Given the description of an element on the screen output the (x, y) to click on. 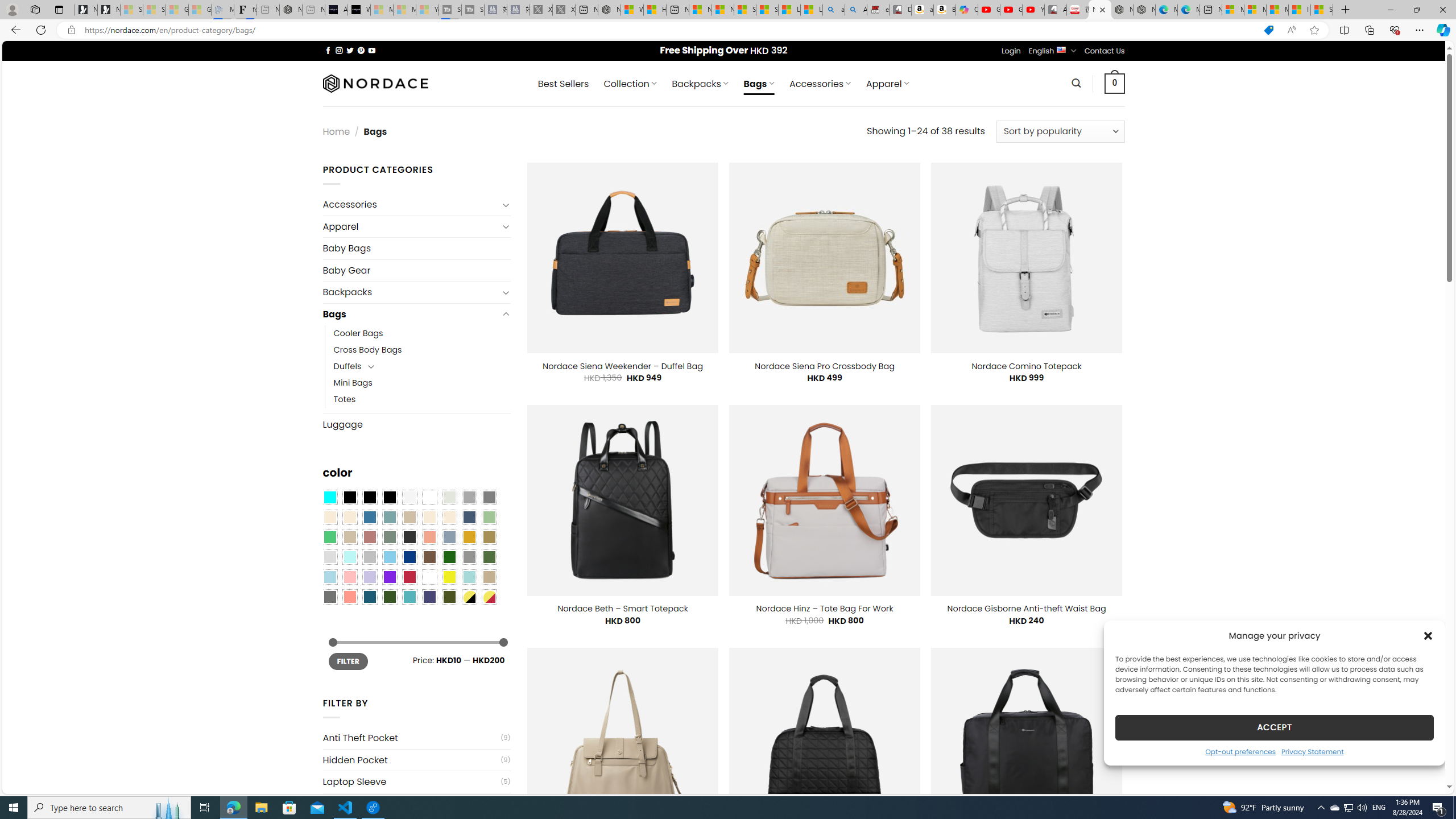
Hidden Pocket(9) (416, 759)
Privacy Statement (1312, 750)
Microsoft Start (1276, 9)
Backpacks (410, 292)
White (429, 577)
Charcoal (408, 536)
Mini Bags (422, 382)
Laptop Sleeve (410, 781)
Amazon Echo Dot PNG - Search Images (856, 9)
Sage (389, 536)
